Given the description of an element on the screen output the (x, y) to click on. 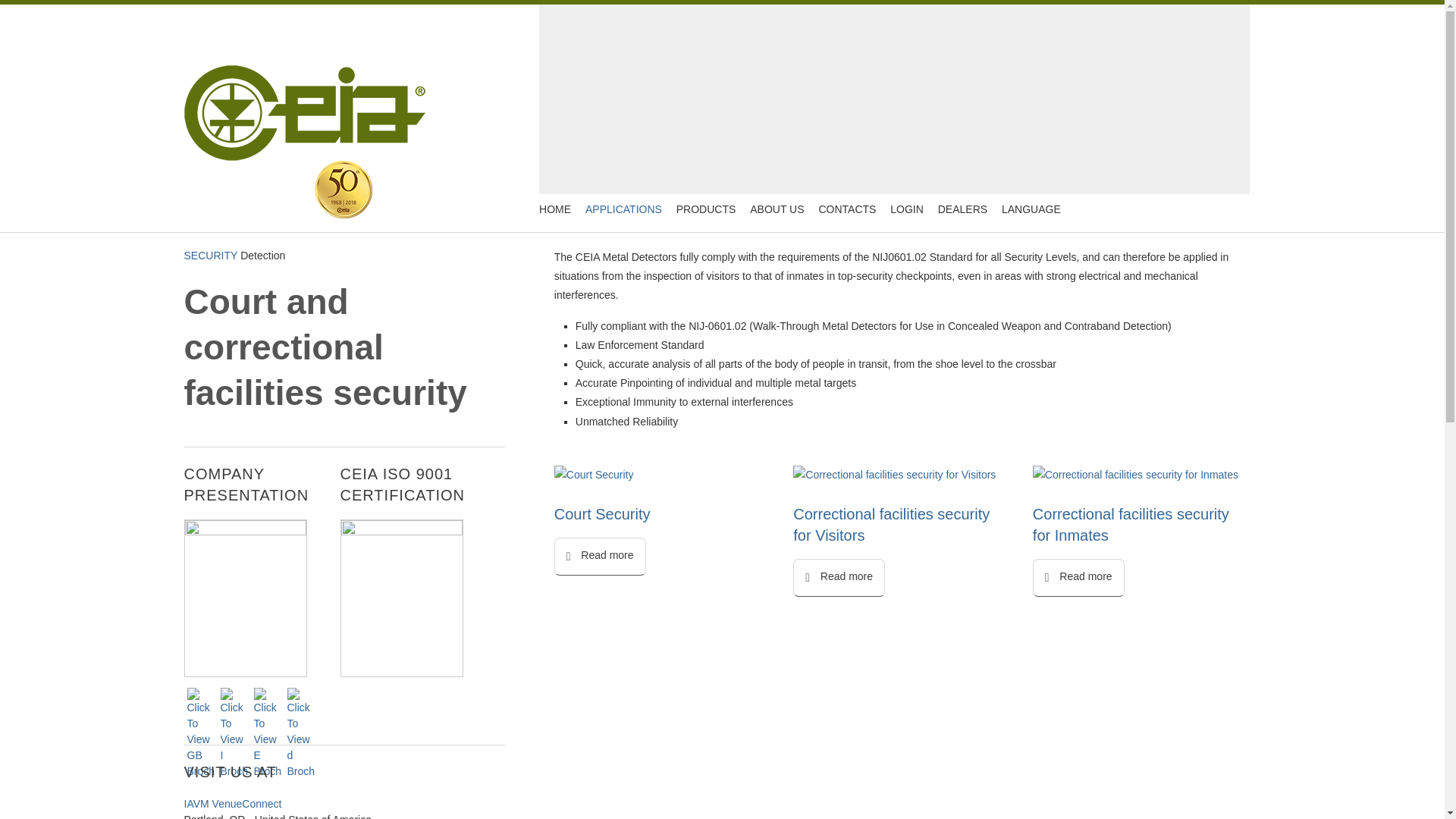
Correctional facilities security for Inmates (1135, 475)
APPLICATIONS (623, 208)
PRODUCTS (705, 208)
Correctional facilities security for Visitors (894, 475)
ABOUT US (776, 208)
Court Security (593, 475)
CEIA Experience (343, 189)
HOME (554, 208)
